Given the description of an element on the screen output the (x, y) to click on. 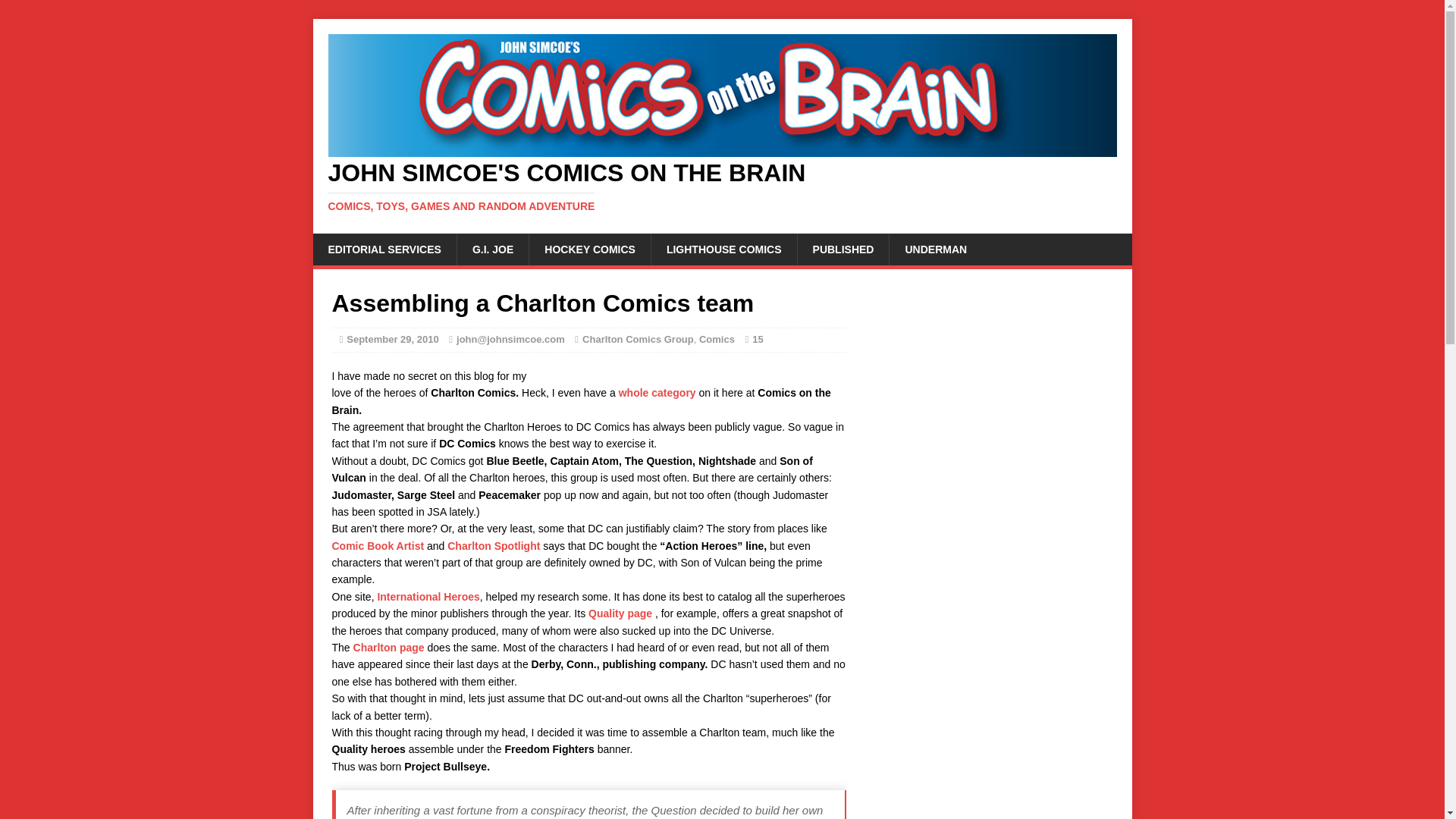
Charlton Comics Group (638, 338)
G.I. JOE (492, 249)
Charlton page (389, 647)
HOCKEY COMICS (589, 249)
International Heroes (428, 596)
Quality page (620, 613)
Charlton Spotlight (493, 545)
15 (757, 338)
LIGHTHOUSE COMICS (723, 249)
